Given the description of an element on the screen output the (x, y) to click on. 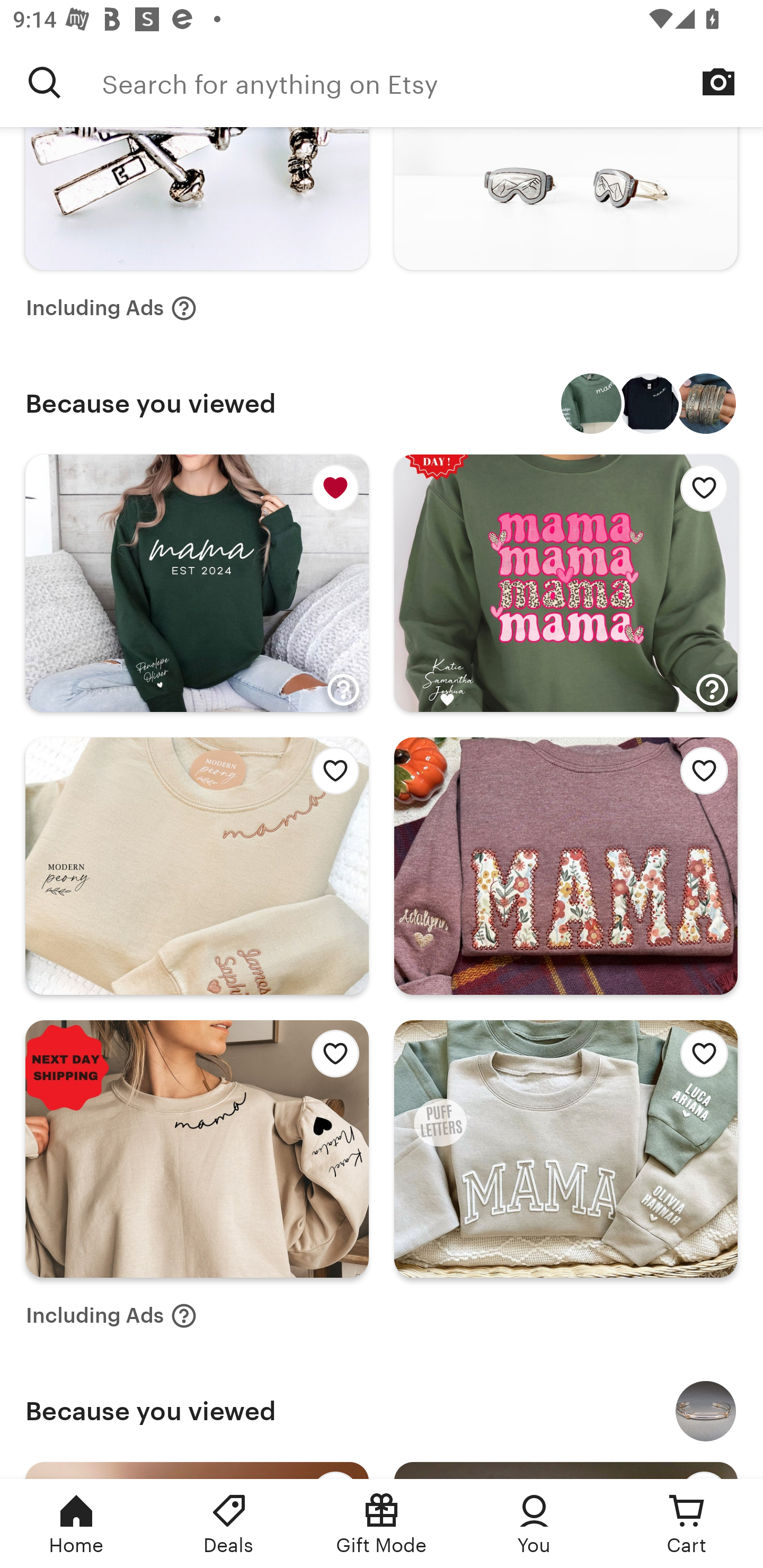
Search for anything on Etsy (44, 82)
Search by image (718, 81)
Search for anything on Etsy (432, 82)
Including Ads (111, 307)
Including Ads (111, 1315)
Deals (228, 1523)
Gift Mode (381, 1523)
You (533, 1523)
Cart (686, 1523)
